Given the description of an element on the screen output the (x, y) to click on. 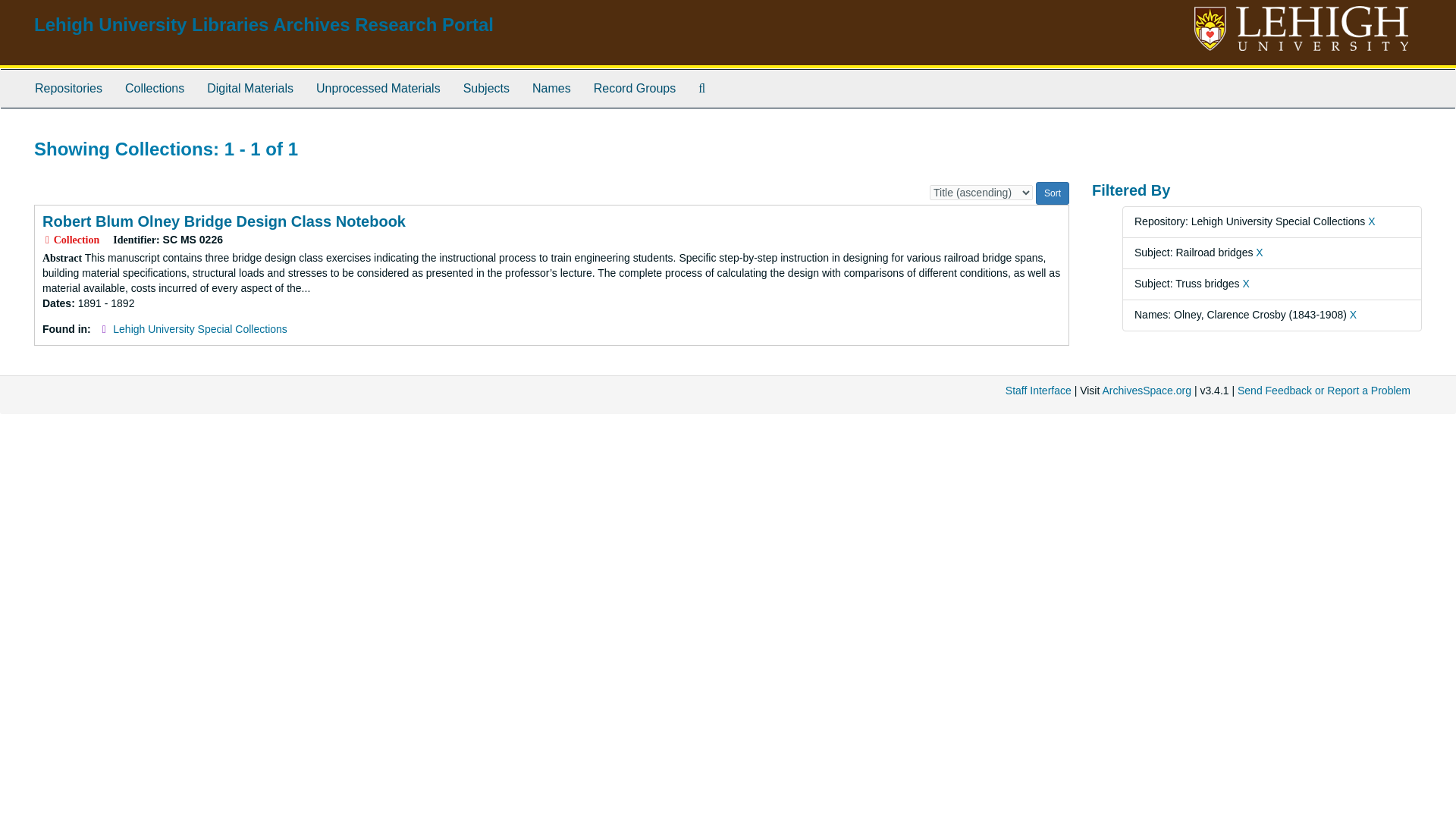
Collections (154, 88)
Digital Materials (249, 88)
Send Feedback or Report a Problem (1323, 390)
Record Groups (634, 88)
Names (551, 88)
Sort (1051, 192)
Repositories (68, 88)
Return to the Research Portal homepage (263, 24)
Lehigh University Libraries Archives Research Portal (263, 24)
Sort (1051, 192)
Subjects (486, 88)
Robert Blum Olney Bridge Design Class Notebook (224, 221)
ArchivesSpace.org (1146, 390)
Unprocessed Materials (377, 88)
Staff Interface (1038, 390)
